Given the description of an element on the screen output the (x, y) to click on. 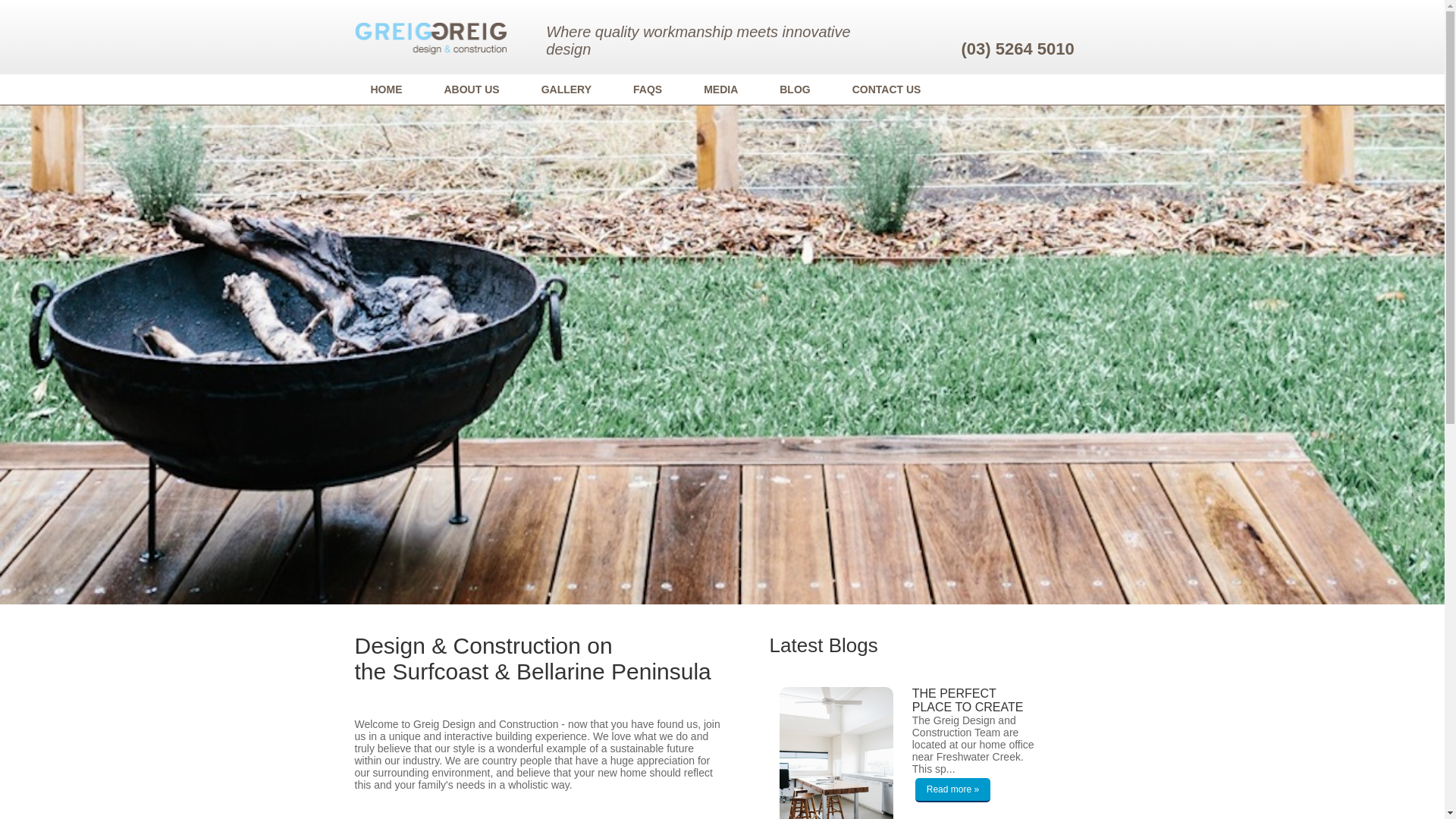
THE PERFECT PLACE TO CREATE Element type: text (974, 706)
ABOUT US Element type: text (476, 89)
GALLERY Element type: text (570, 89)
HOME Element type: text (390, 89)
CONTACT US Element type: text (890, 89)
MEDIA Element type: text (724, 89)
(03) 5264 5010 Element type: text (1016, 48)
BLOG Element type: text (798, 89)
FAQS Element type: text (651, 89)
